Given the description of an element on the screen output the (x, y) to click on. 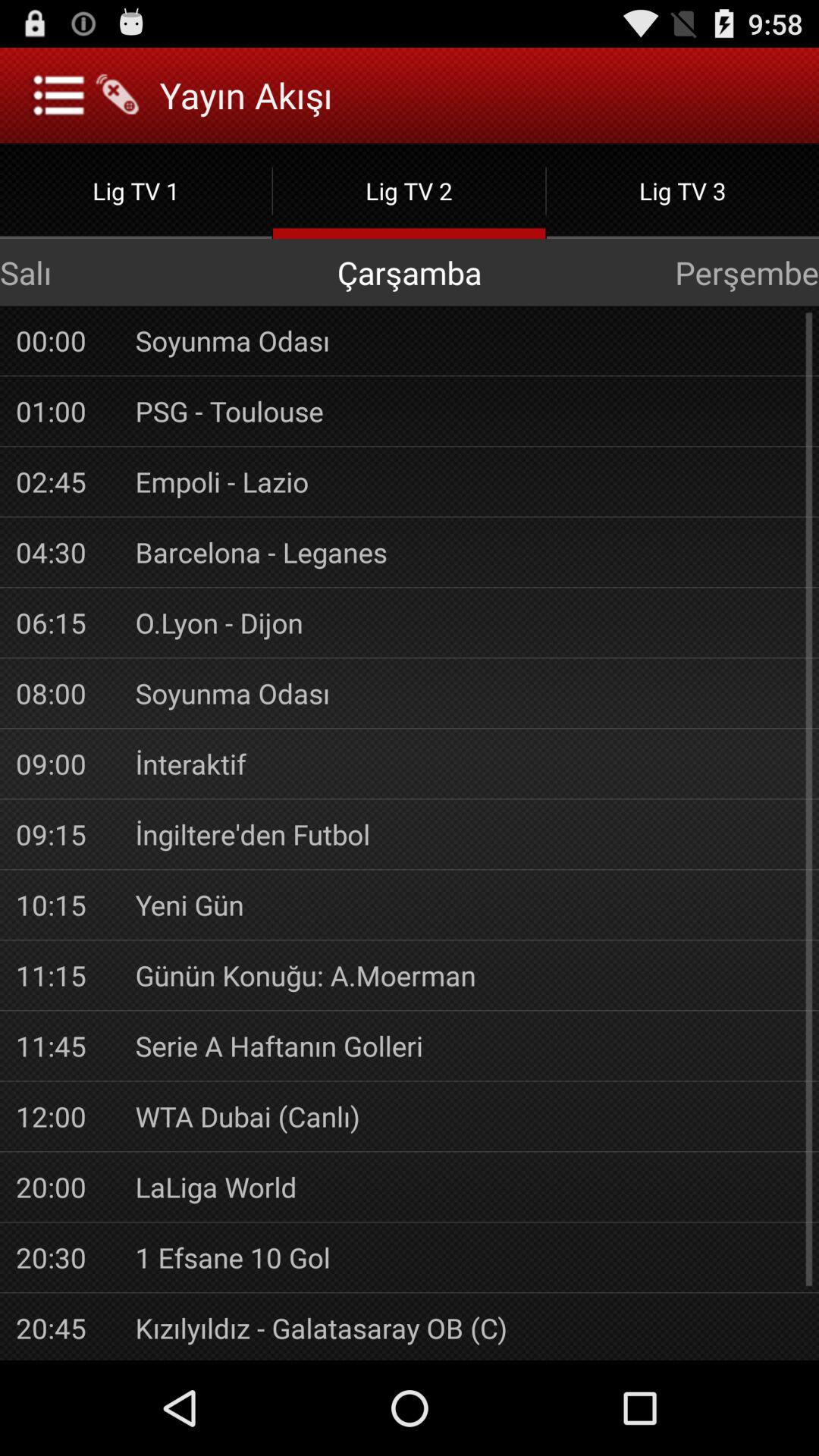
click icon next to the 11:15 item (469, 975)
